Given the description of an element on the screen output the (x, y) to click on. 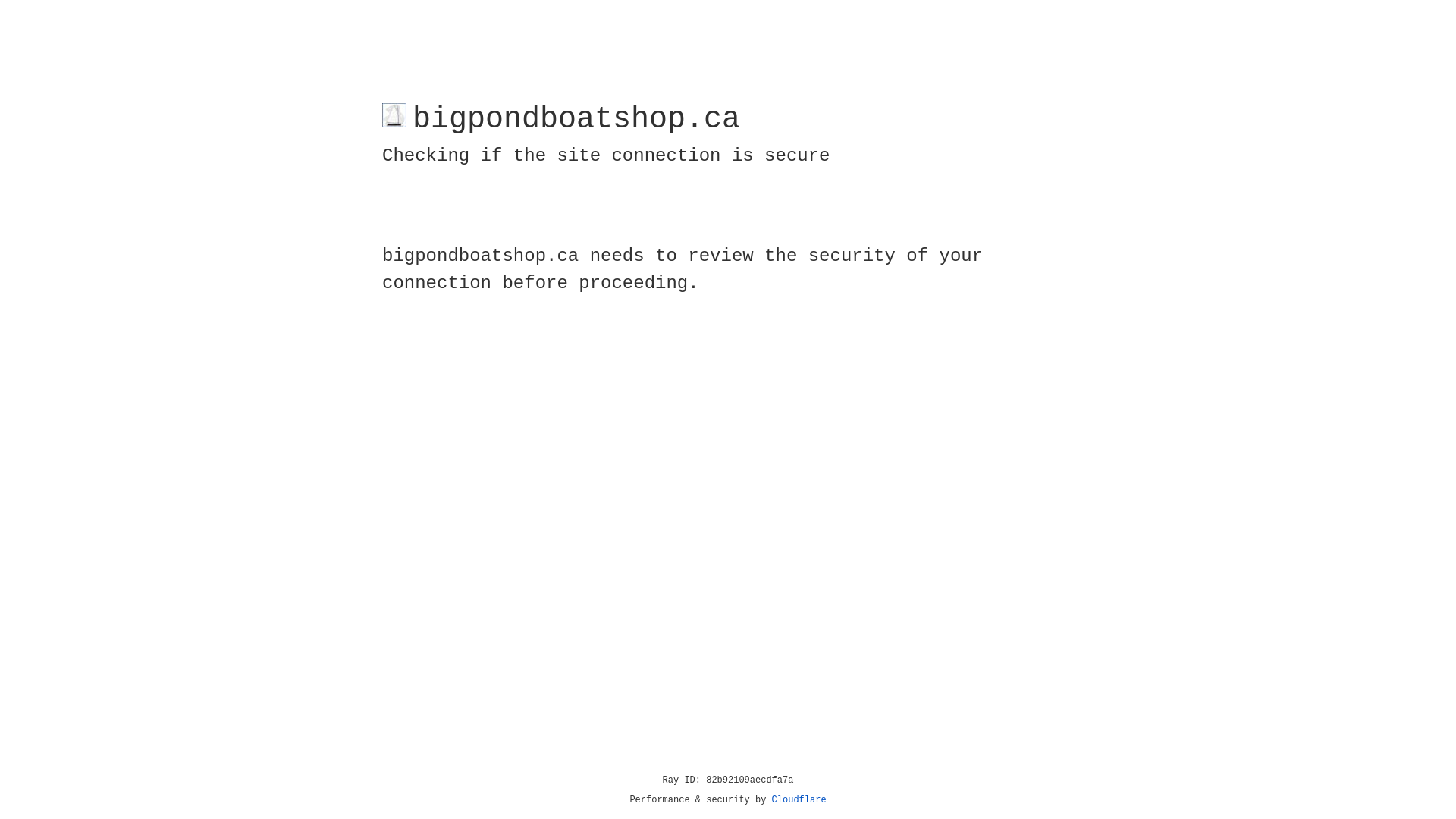
Cloudflare Element type: text (798, 799)
